Given the description of an element on the screen output the (x, y) to click on. 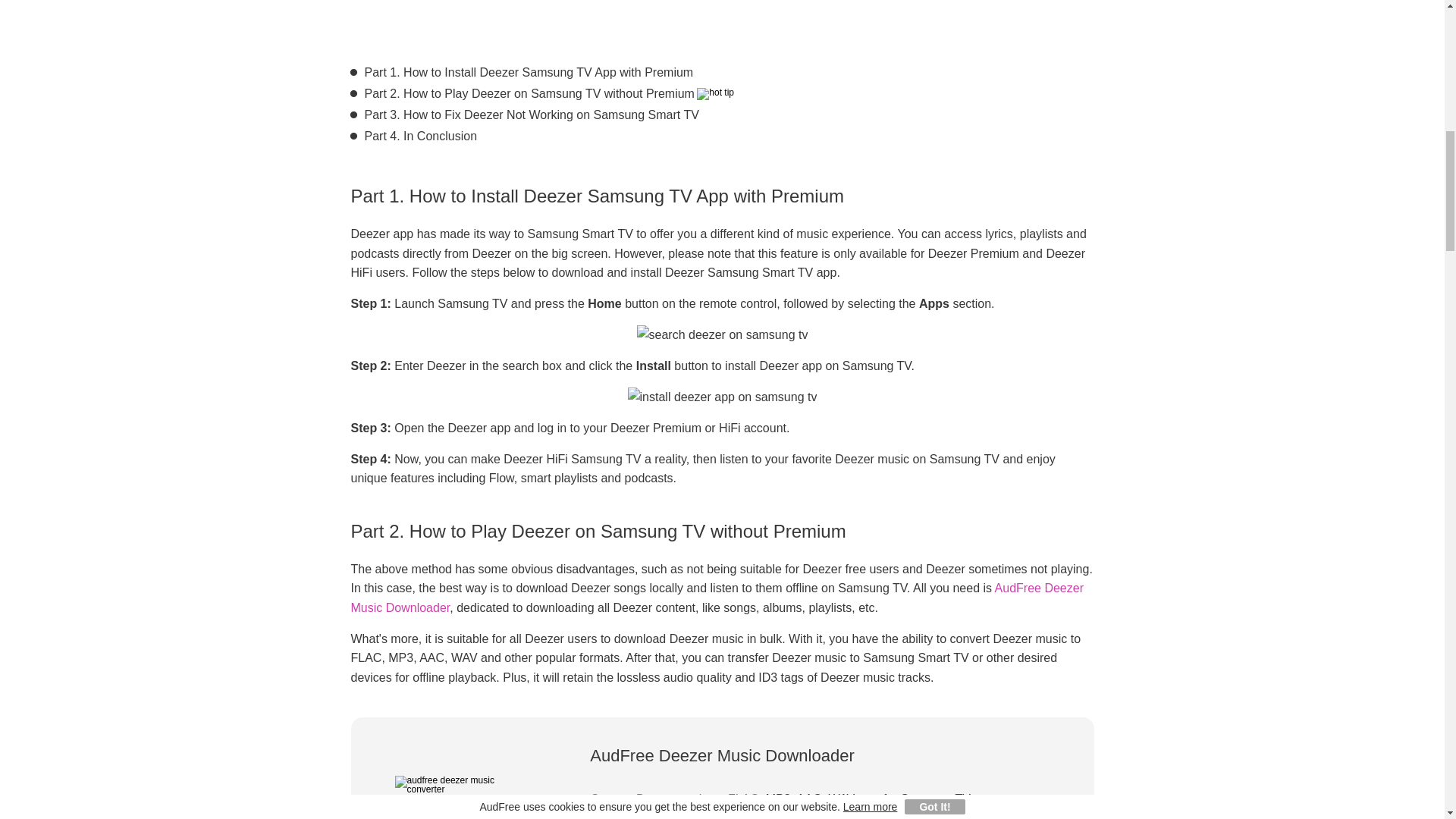
Part 4. In Conclusion (420, 136)
Part 1. How to Install Deezer Samsung TV App with Premium (528, 72)
AudFree Deezer Music Downloader (716, 597)
Part 2. How to Play Deezer on Samsung TV without Premium (529, 93)
Part 3. How to Fix Deezer Not Working on Samsung Smart TV (531, 115)
Convert Deezer tracks to FLAC (673, 798)
